Given the description of an element on the screen output the (x, y) to click on. 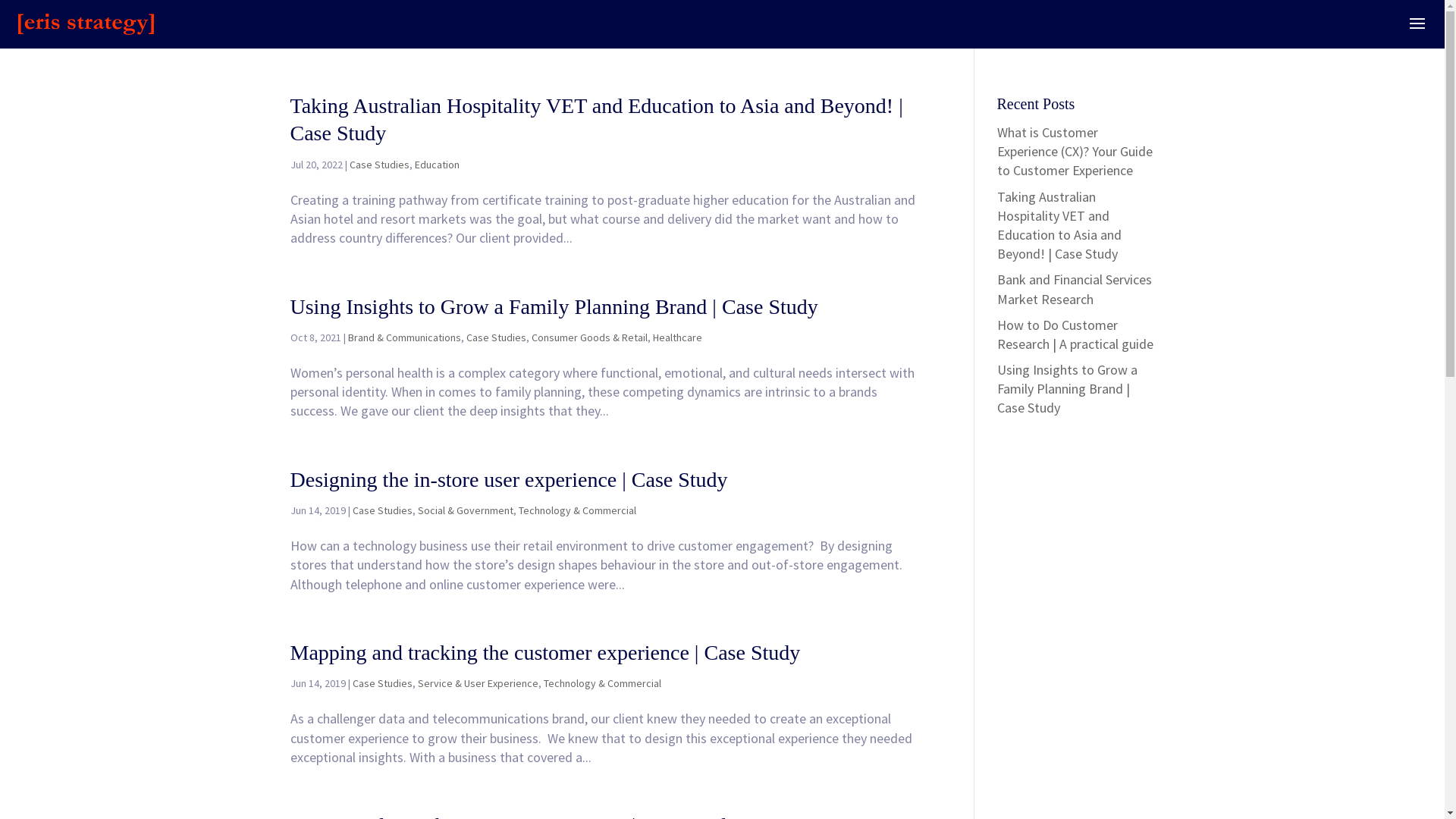
Case Studies Element type: text (381, 683)
Mapping and tracking the customer experience | Case Study Element type: text (544, 652)
Designing the in-store user experience | Case Study Element type: text (508, 479)
Using Insights to Grow a Family Planning Brand | Case Study Element type: text (553, 306)
Healthcare Element type: text (676, 337)
Service & User Experience Element type: text (477, 683)
Case Studies Element type: text (381, 510)
Case Studies Element type: text (378, 164)
Bank and Financial Services Market Research Element type: text (1074, 288)
Using Insights to Grow a Family Planning Brand | Case Study Element type: text (1067, 388)
Technology & Commercial Element type: text (601, 683)
Education Element type: text (436, 164)
Social & Government Element type: text (464, 510)
Consumer Goods & Retail Element type: text (588, 337)
Case Studies Element type: text (495, 337)
How to Do Customer Research | A practical guide Element type: text (1075, 334)
Technology & Commercial Element type: text (577, 510)
Brand & Communications Element type: text (403, 337)
